Given the description of an element on the screen output the (x, y) to click on. 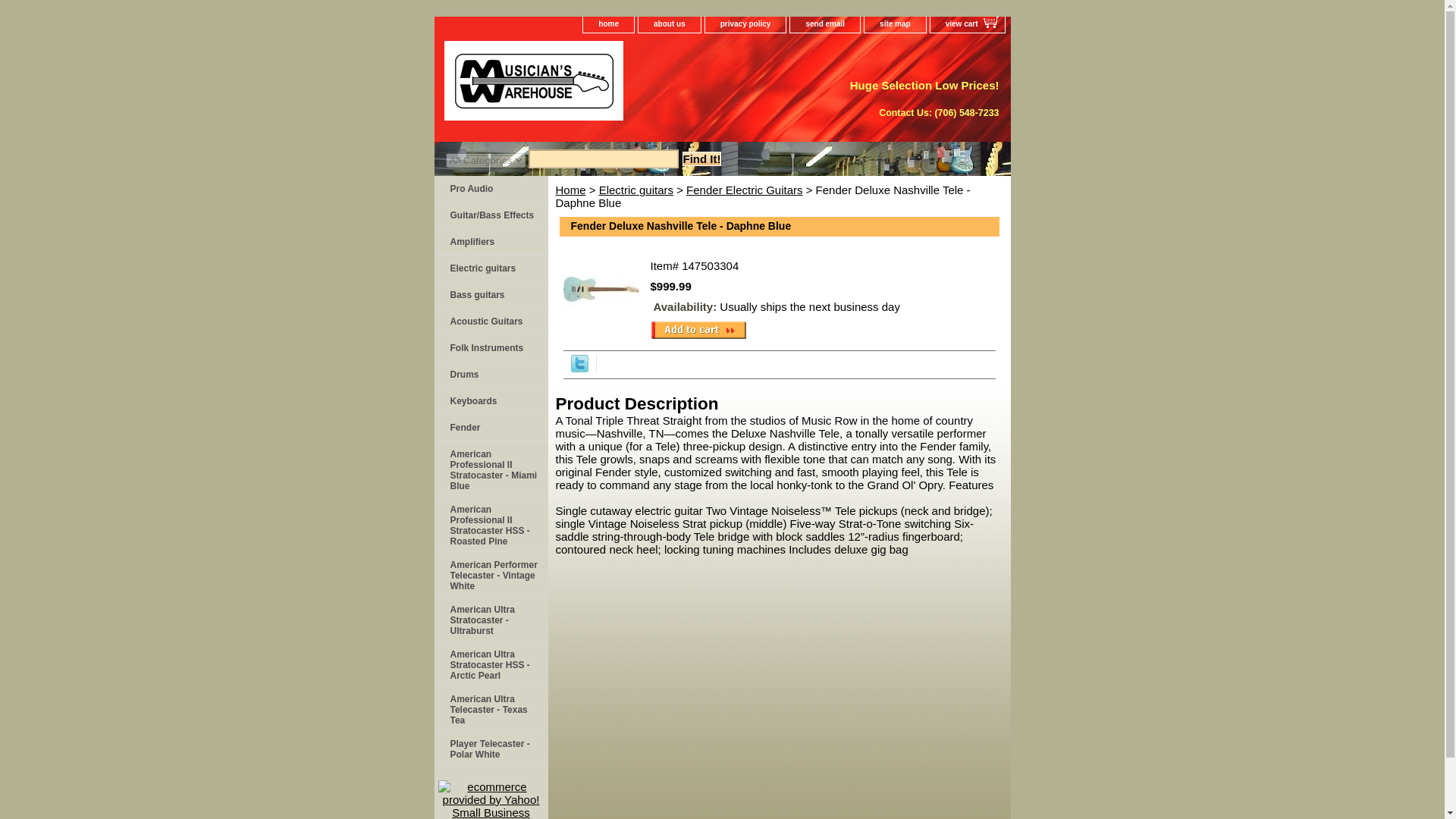
American Professional II Stratocaster HSS - Roasted Pine (490, 524)
Drums (490, 374)
The Musician's Warehouse (622, 85)
American Professional II Stratocaster - Miami Blue (490, 468)
Find It! (702, 158)
Fender (490, 427)
American Ultra Stratocaster - Ultraburst (490, 619)
Player Telecaster - Polar White (490, 747)
Drums (490, 374)
American Ultra Stratocaster - Ultraburst (490, 619)
Tweet (579, 367)
Amplifiers (490, 242)
Folk Instruments (490, 347)
Add to cart (697, 330)
Bass guitars (490, 294)
